Given the description of an element on the screen output the (x, y) to click on. 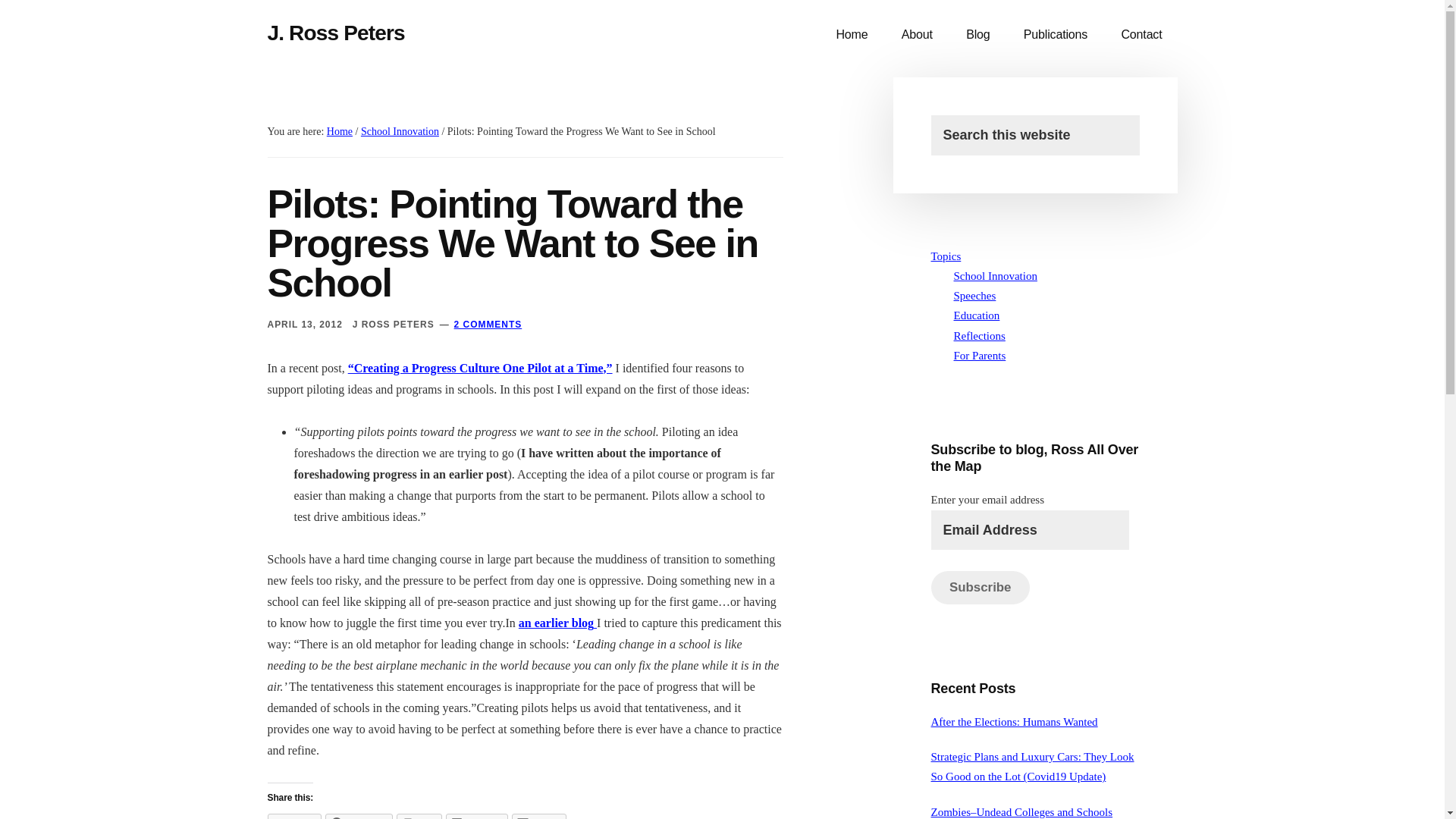
Home (339, 131)
Print (419, 816)
Publications (1055, 34)
Click to share on LinkedIn (475, 816)
LinkedIn (475, 816)
Facebook (358, 816)
Click to share on Facebook (358, 816)
About (916, 34)
Twitter (293, 816)
School Innovation (994, 275)
Subscribe (980, 586)
Reflections (979, 336)
For Parents (979, 355)
